Given the description of an element on the screen output the (x, y) to click on. 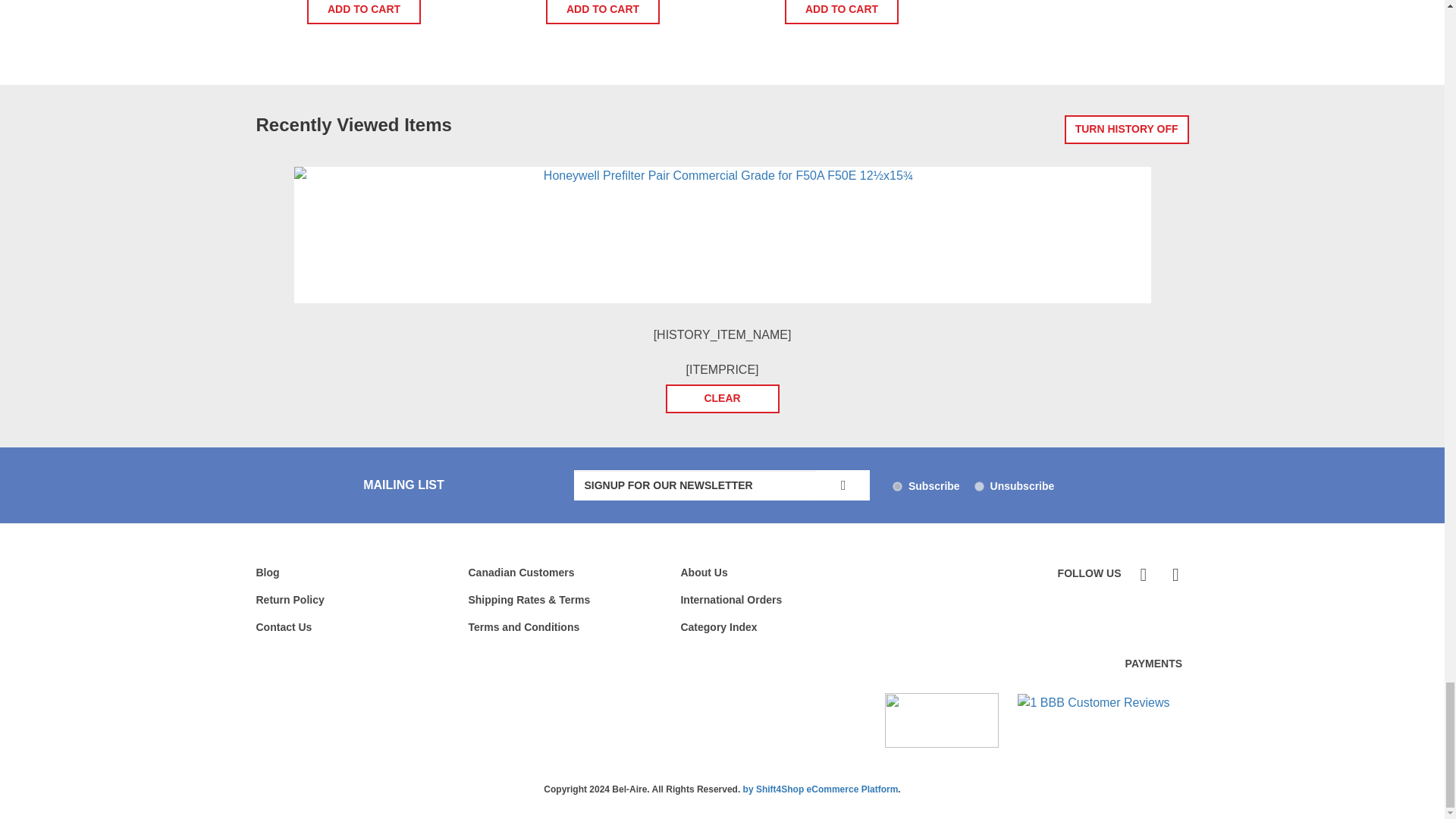
Subscribe to our Channel (1173, 574)
1 (897, 486)
Like Us on Facebook (1142, 574)
0 (979, 486)
Bel-Aire Company BBB Customer Reviews (1093, 701)
